Given the description of an element on the screen output the (x, y) to click on. 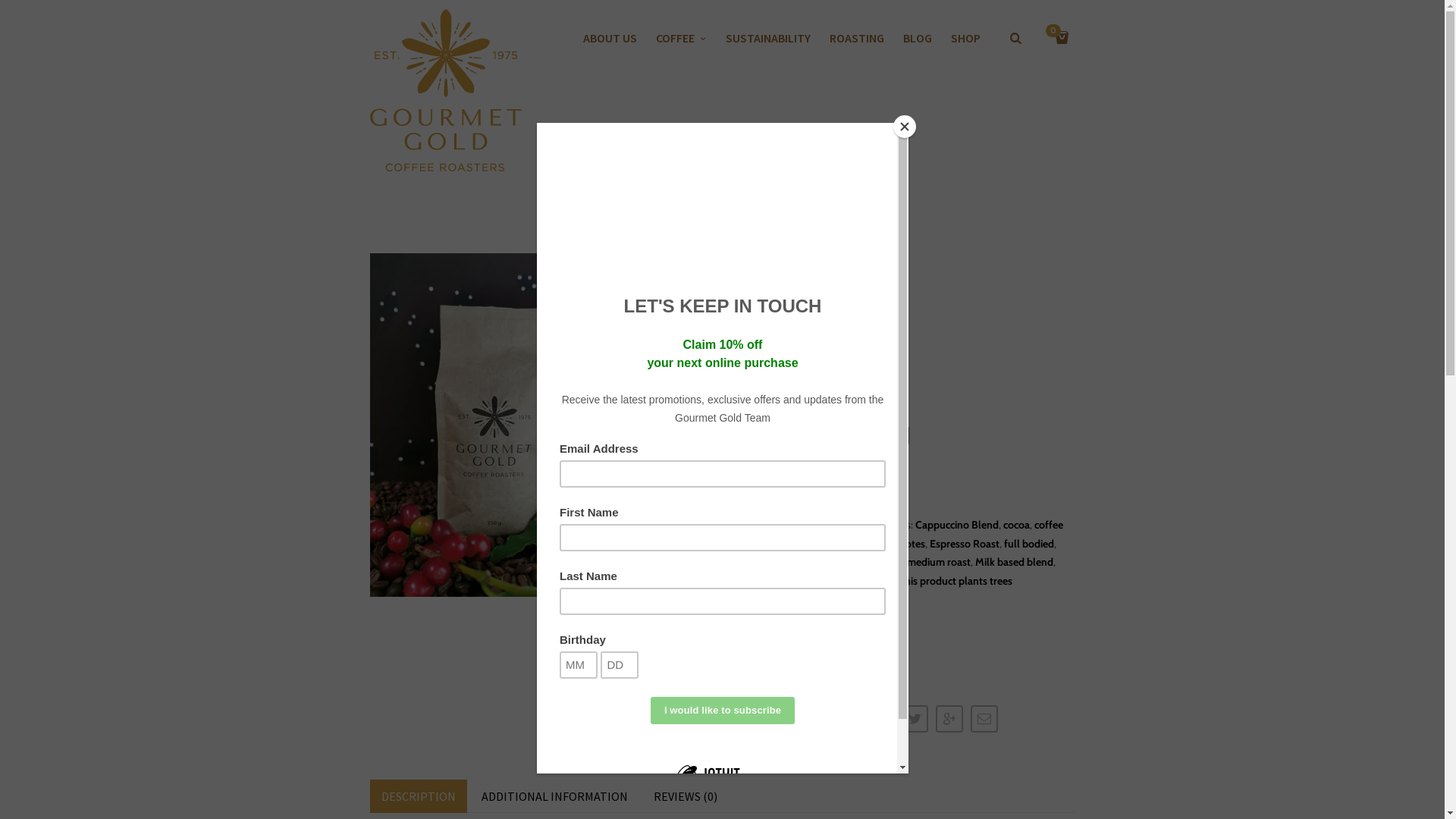
medium roast Element type: text (938, 561)
SUSTAINABILITY Element type: text (767, 37)
Espresso Roast Element type: text (964, 543)
hints of plum Element type: text (764, 561)
ADDITIONAL INFORMATION Element type: text (554, 795)
Coffee Blends Element type: text (802, 262)
this product plants trees Element type: text (956, 580)
DESCRIPTION Element type: text (418, 795)
coffee blend Element type: text (898, 533)
Cappuccino Blend Element type: text (955, 524)
Home Element type: text (748, 262)
SHOP Element type: text (965, 37)
dark chocolate notes Element type: text (877, 543)
Coffee-beans-online-sydney-01 Element type: hover (498, 424)
REVIEWS (0) Element type: text (684, 795)
ROASTING Element type: text (856, 37)
X Element type: text (836, 632)
online coffee Element type: text (763, 580)
Coffee Blends Element type: text (855, 524)
malty sweetness Element type: text (863, 561)
Milk based blend Element type: text (1014, 561)
COFFEE Element type: text (680, 37)
BLOG Element type: text (917, 37)
latte Element type: text (809, 561)
0
Cart Element type: text (1062, 51)
Gourmet Gold Coffee Element type: hover (445, 90)
Search Element type: text (12, 12)
ADD TO CART Element type: text (845, 481)
smooth Element type: text (877, 580)
full bodied Element type: text (1029, 543)
ABOUT US Element type: text (610, 37)
roasted nuts Element type: text (826, 580)
cocoa Element type: text (1015, 524)
compostable Element type: text (794, 543)
Facebook Element type: text (772, 632)
